Given the description of an element on the screen output the (x, y) to click on. 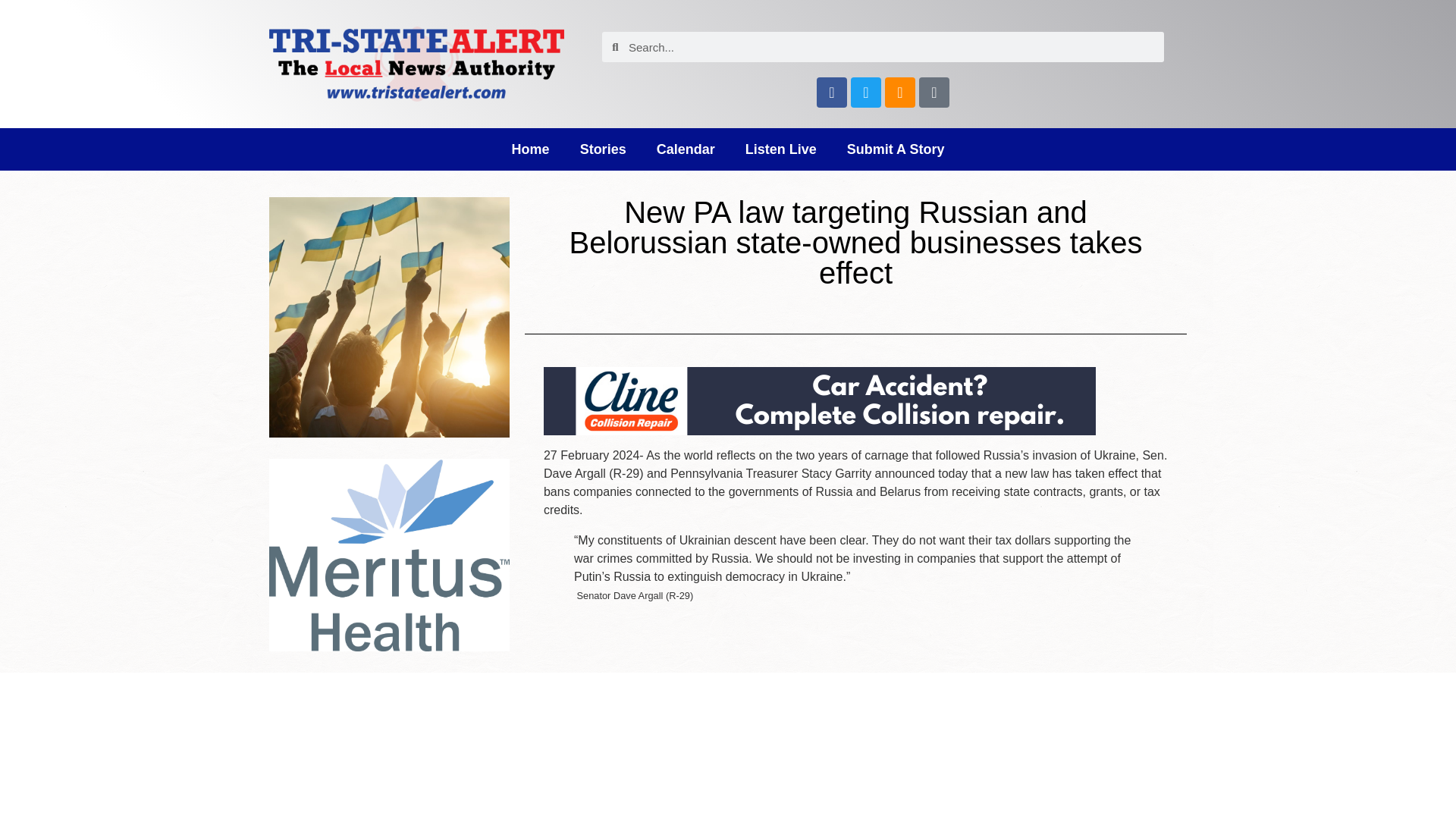
Calendar (686, 148)
Stories (603, 148)
Listen Live (780, 148)
Home (530, 148)
Submit A Story (895, 148)
